Given the description of an element on the screen output the (x, y) to click on. 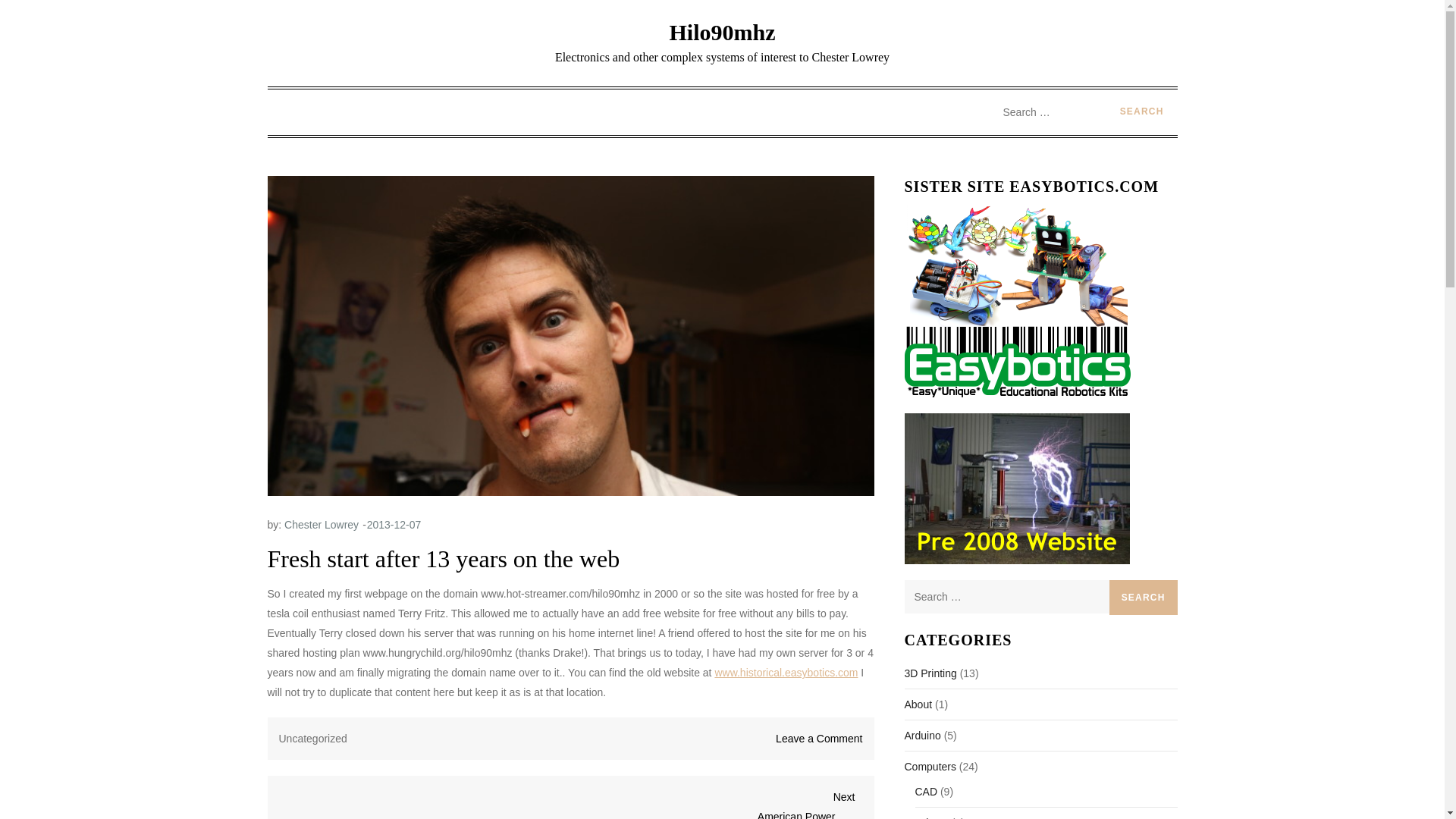
Search (1143, 597)
Search (1141, 112)
Arduino (922, 735)
Chester Lowrey (320, 524)
Search (1143, 597)
www.historical.easybotics.com (785, 672)
easybotics.com (1016, 300)
Search (818, 738)
Search (1141, 112)
Computers (1143, 597)
About (929, 766)
Hilo90mhz (917, 704)
Search (721, 32)
